Given the description of an element on the screen output the (x, y) to click on. 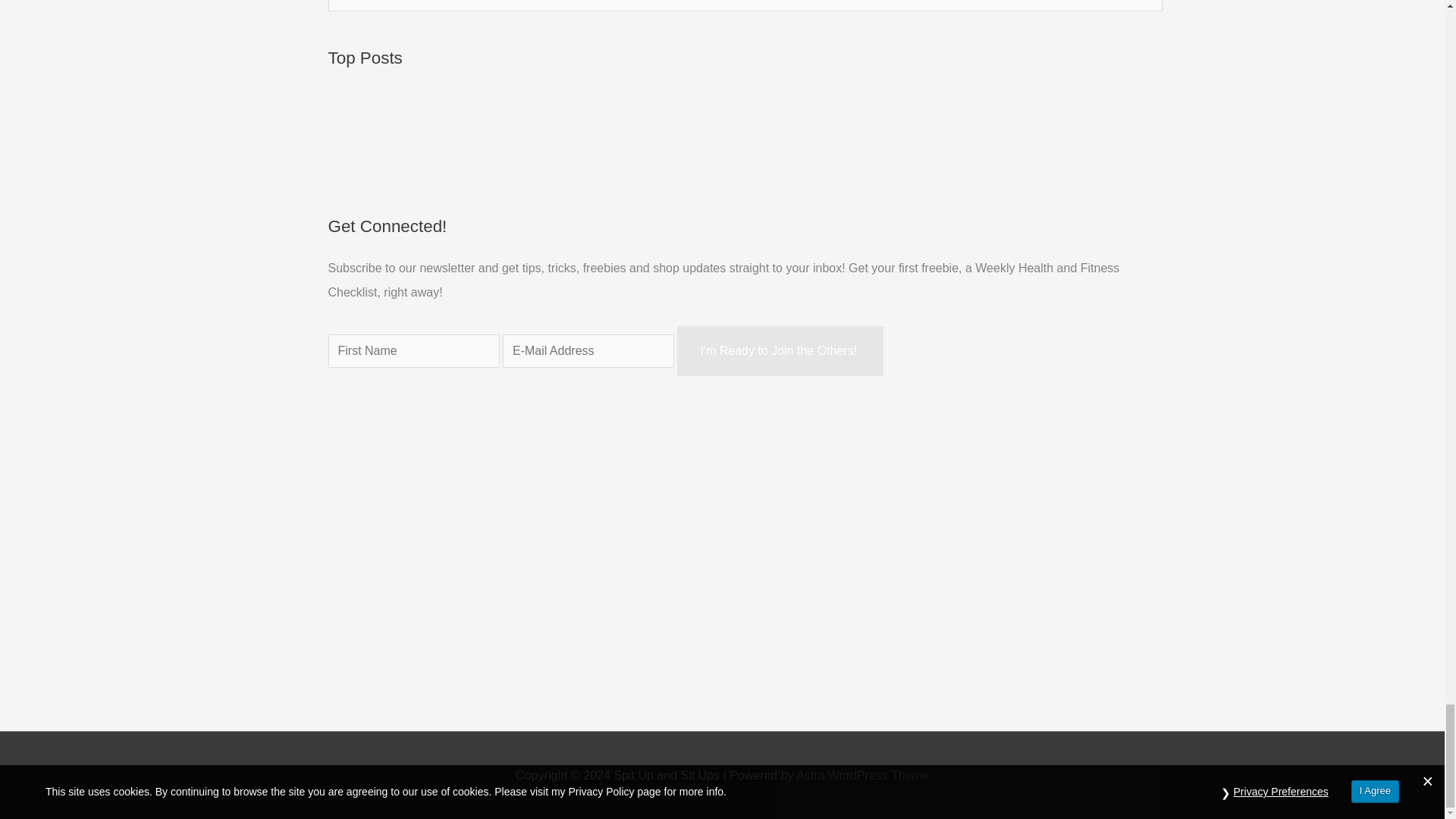
Search (1144, 10)
I'm Ready to Join the Others!  (779, 350)
Search (1144, 10)
